Given the description of an element on the screen output the (x, y) to click on. 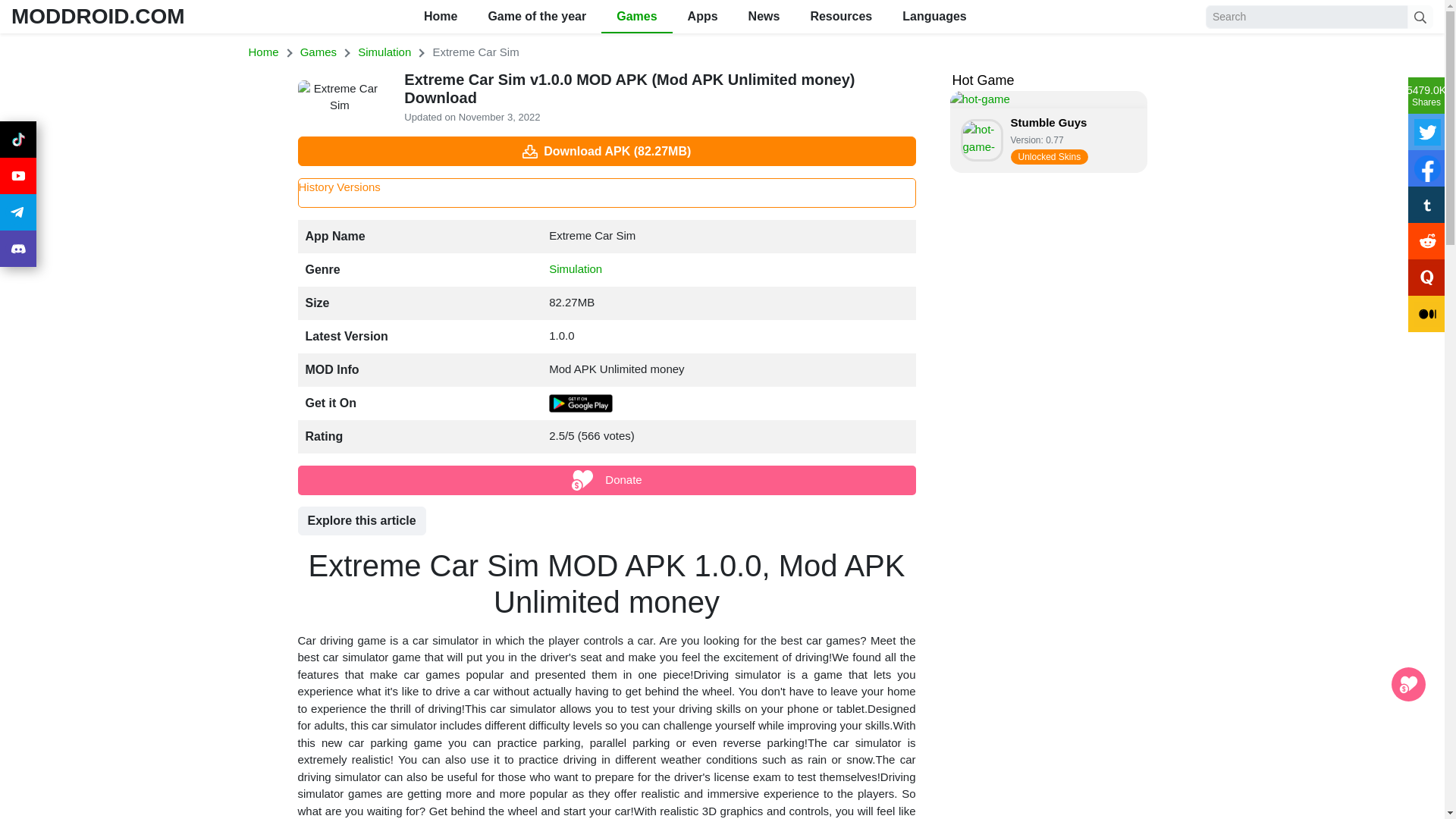
Languages (933, 16)
News (763, 16)
Games (636, 16)
Game of the year (536, 16)
Home (440, 16)
Home (317, 51)
Home (263, 51)
Apps (702, 16)
MODDROID.COM (97, 15)
Home (384, 51)
